Given the description of an element on the screen output the (x, y) to click on. 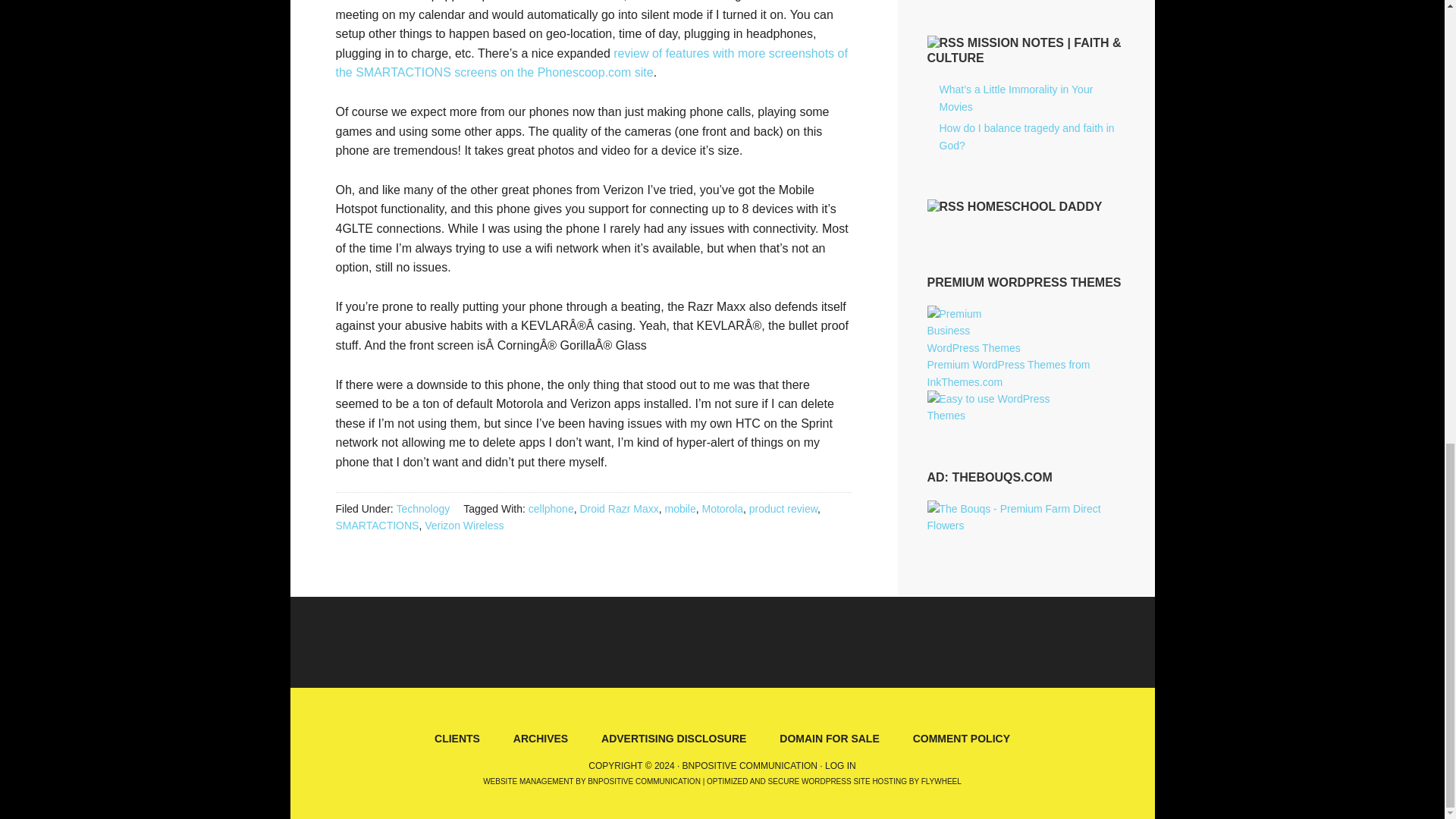
Premium WordPress Themes from InkThemes (1007, 372)
Motorola (721, 508)
Verizon Wireless (464, 525)
cellphone (550, 508)
Technology (422, 508)
Site Hosting by Flywheel (833, 781)
Review: Motorola Droid RAZR for Verizon Wireless. (590, 62)
Droid Razr Maxx (618, 508)
SMARTACTIONS (376, 525)
product review (782, 508)
Website Management by Bnpositive Communication (591, 781)
mobile (679, 508)
